Given the description of an element on the screen output the (x, y) to click on. 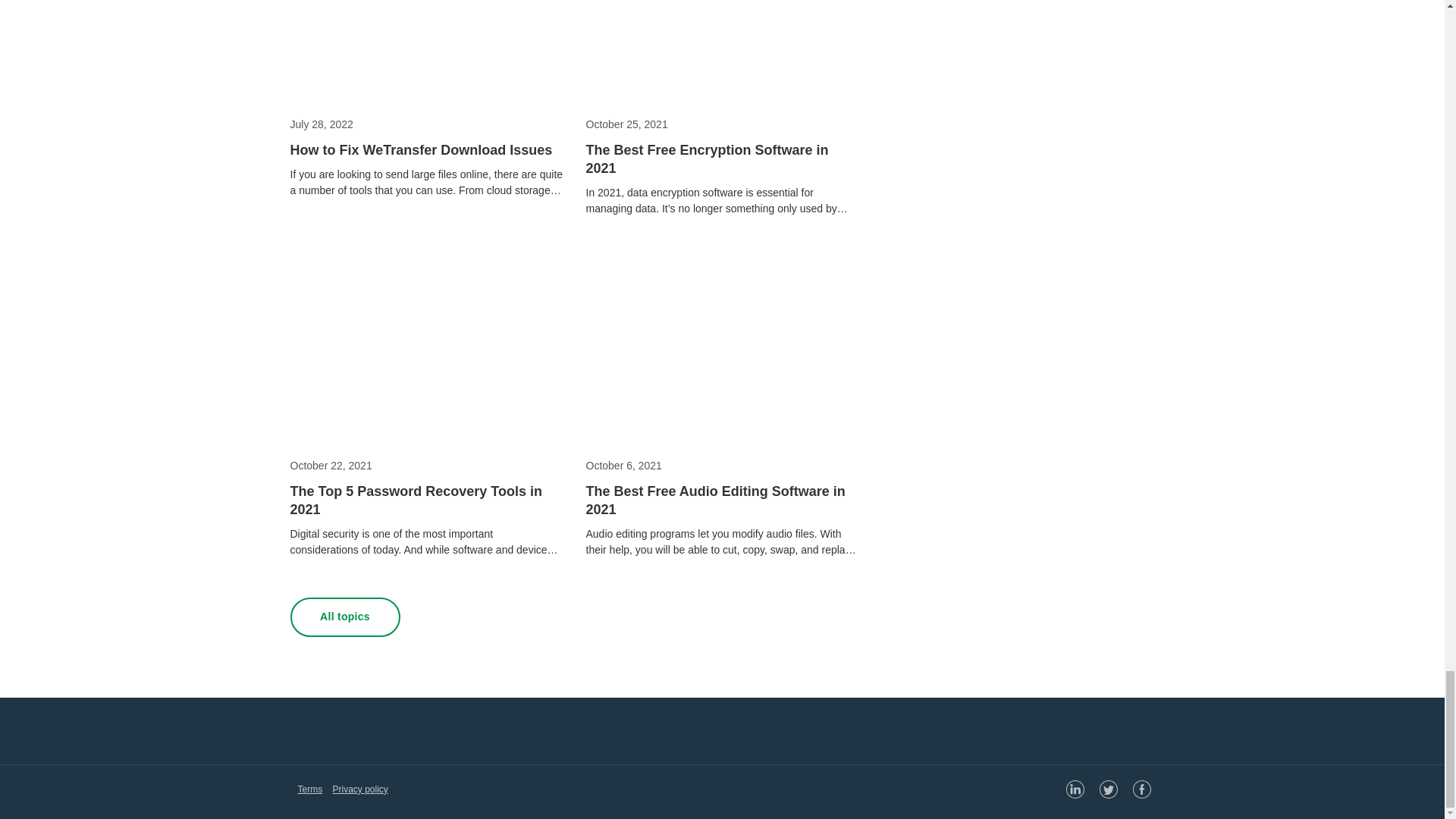
The Top 5 Password Recovery Tools in 2021 (425, 500)
How to Fix WeTransfer Download Issues (425, 149)
The Best Free Audio Editing Software in 2021 (722, 500)
The Top 5 Password Recovery Tools in 2021 (425, 500)
How to Fix WeTransfer Download Issues (425, 149)
The Best Free Encryption Software in 2021 (722, 158)
The Best Free Encryption Software in 2021 (722, 158)
The Best Free Audio Editing Software in 2021 (722, 500)
All topics (343, 617)
